Given the description of an element on the screen output the (x, y) to click on. 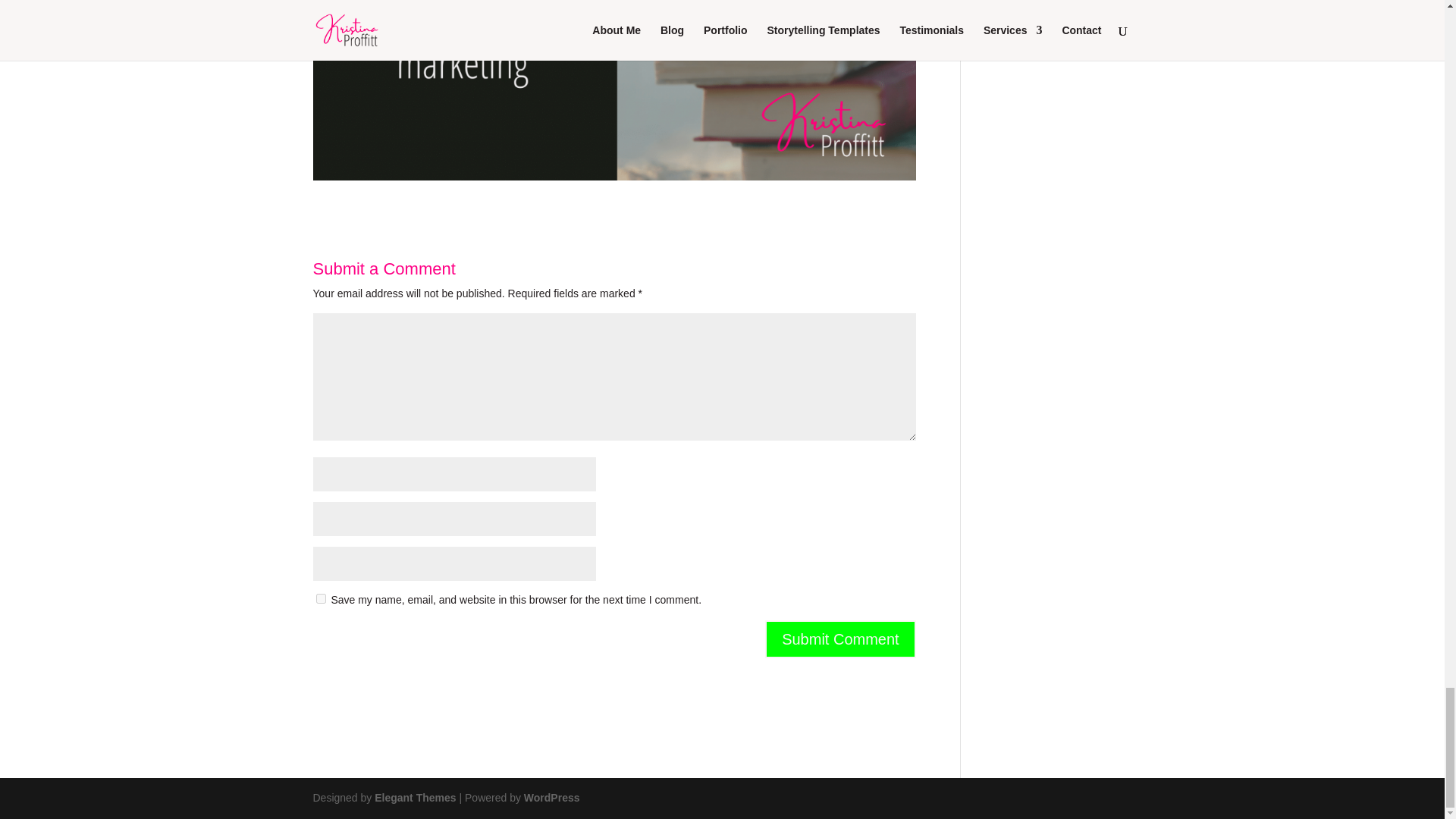
WordPress (551, 797)
Submit Comment (840, 638)
Submit Comment (840, 638)
Elegant Themes (414, 797)
yes (319, 598)
Premium WordPress Themes (414, 797)
